Given the description of an element on the screen output the (x, y) to click on. 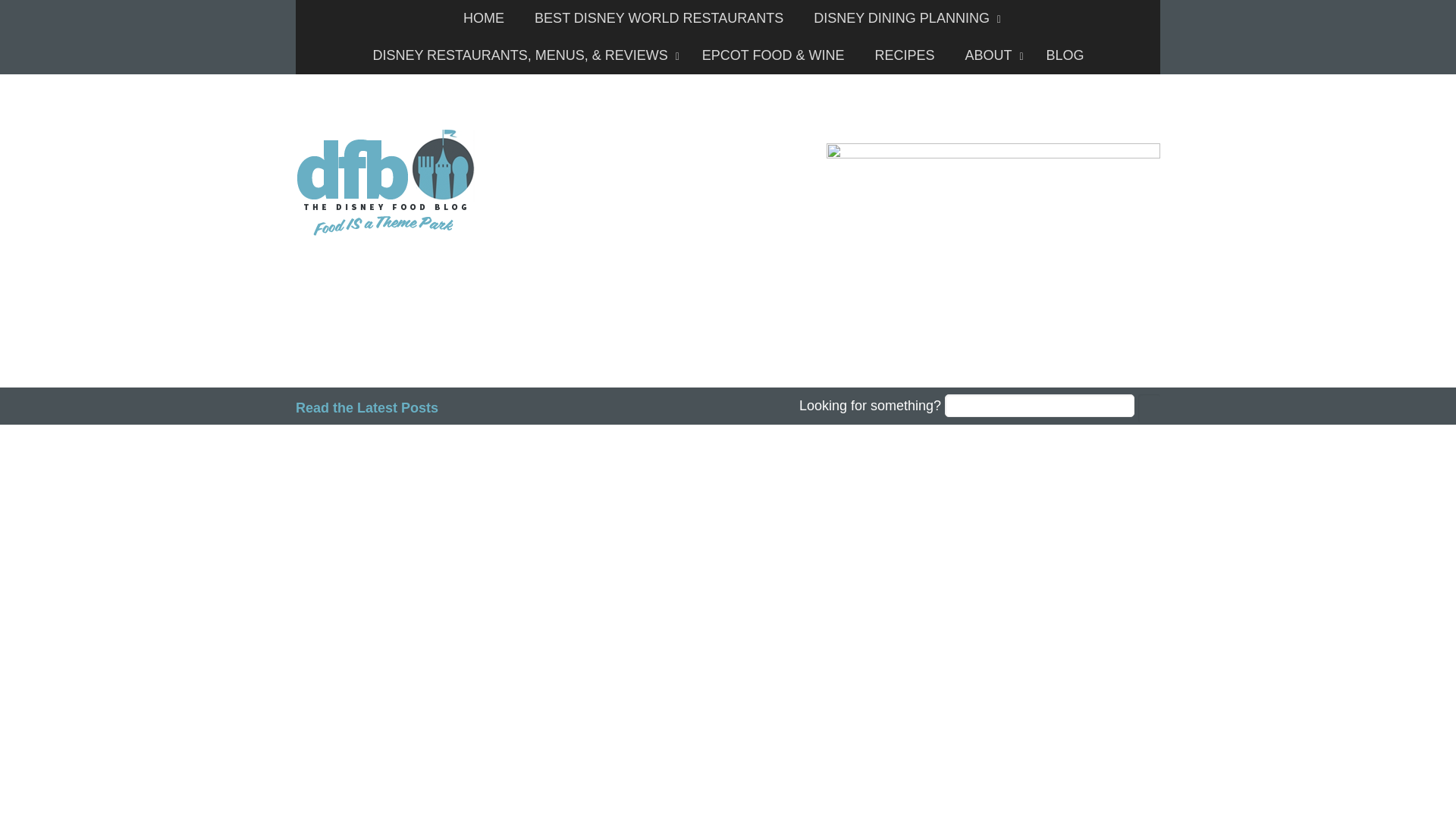
Search (1149, 407)
HOME (483, 18)
DISNEY DINING PLANNING (903, 18)
BEST DISNEY WORLD RESTAURANTS (658, 18)
